Given the description of an element on the screen output the (x, y) to click on. 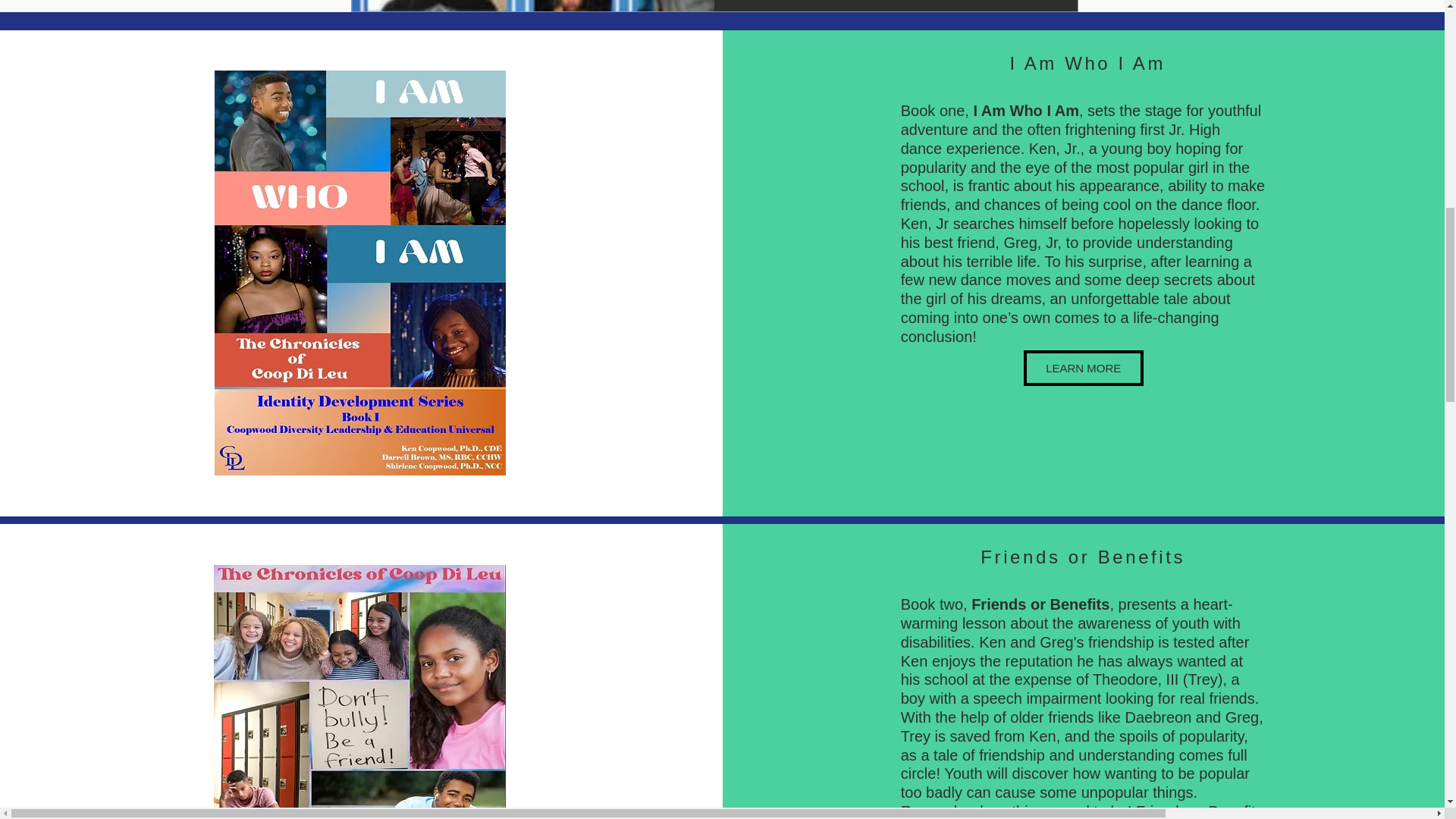
I am who I am .jpg (359, 692)
LEARN MORE (1082, 367)
